Given the description of an element on the screen output the (x, y) to click on. 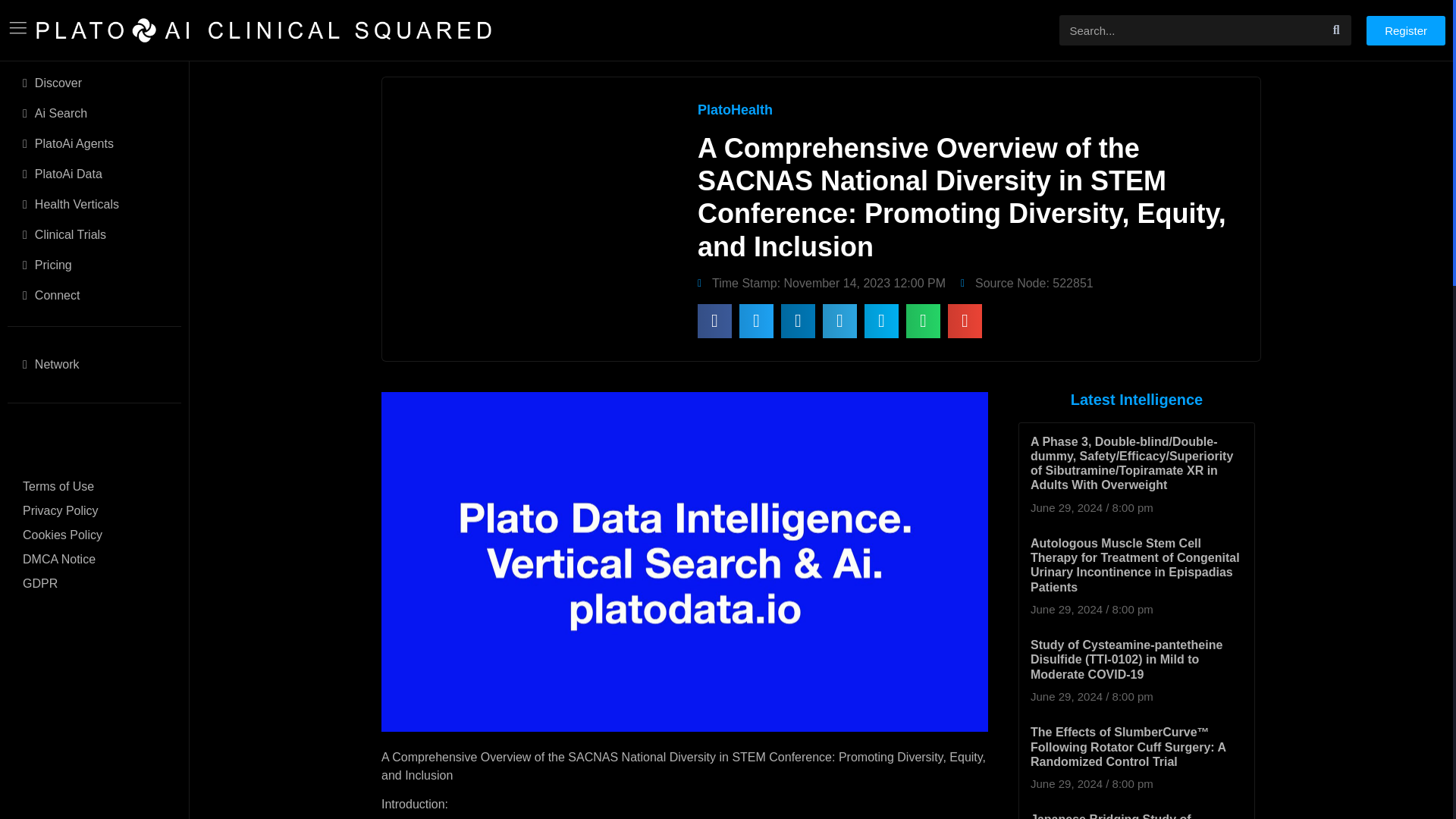
PlatoAi Data (93, 173)
Terms of Use (93, 486)
Discover (93, 82)
PlatoAi Agents (93, 143)
Connect (93, 295)
Pricing (93, 265)
Privacy Policy (93, 510)
DMCA Notice (93, 559)
Ai Search (93, 113)
Network (93, 364)
Health Verticals (93, 204)
GDPR (93, 583)
Clinical Trials (93, 235)
Cookies Policy (93, 535)
